Given the description of an element on the screen output the (x, y) to click on. 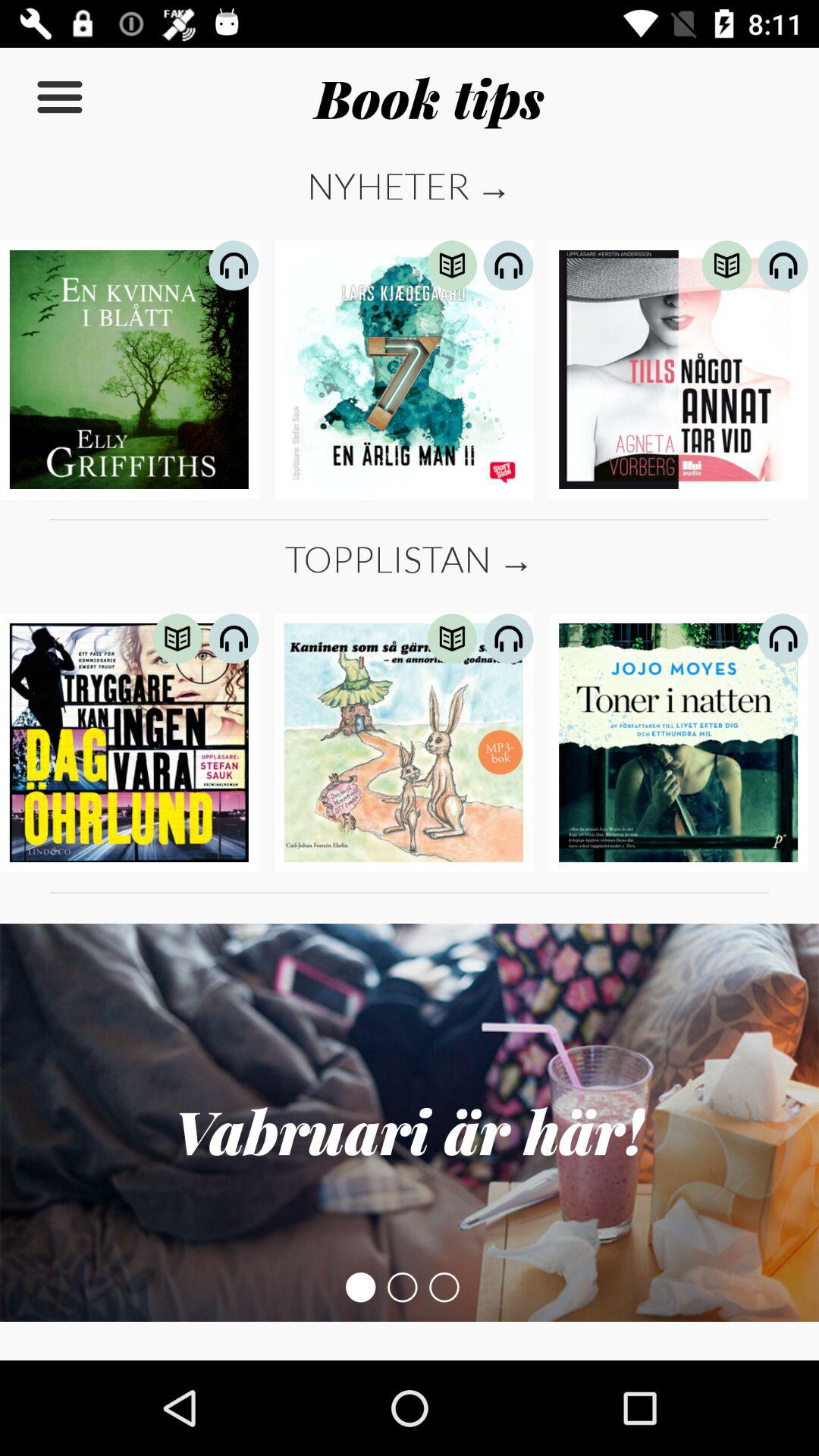
turn off icon to the left of book tips item (59, 97)
